Given the description of an element on the screen output the (x, y) to click on. 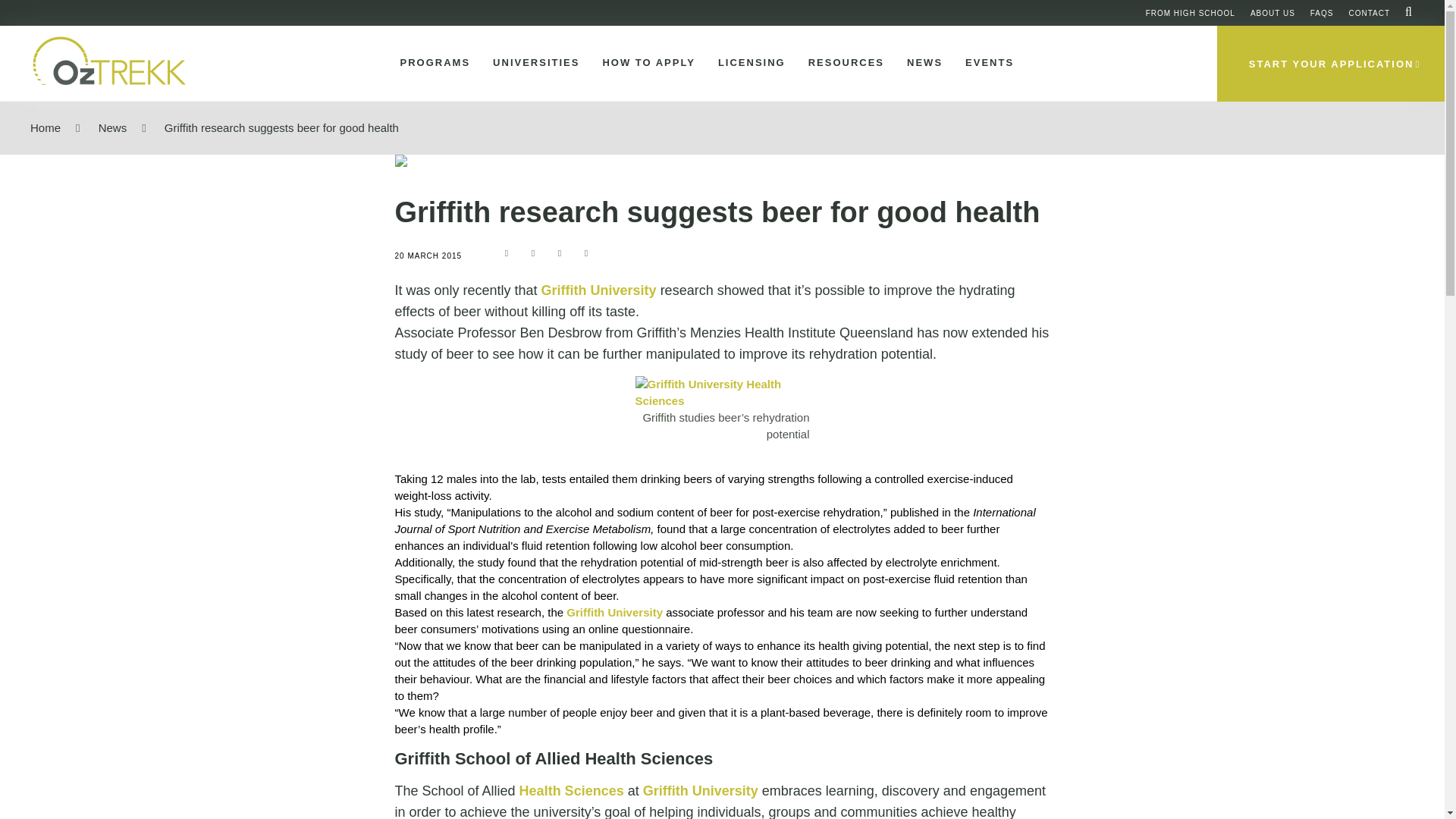
PROGRAMS (432, 63)
Griffith University (614, 612)
Griffith Health Sciences (571, 790)
FROM HIGH SCHOOL (1189, 13)
CONTACT (1369, 13)
FAQS (1321, 13)
Griffith University (598, 290)
Health sciences at Griffith (721, 392)
ABOUT US (1272, 13)
Find out more about Griffith University (700, 790)
